Given the description of an element on the screen output the (x, y) to click on. 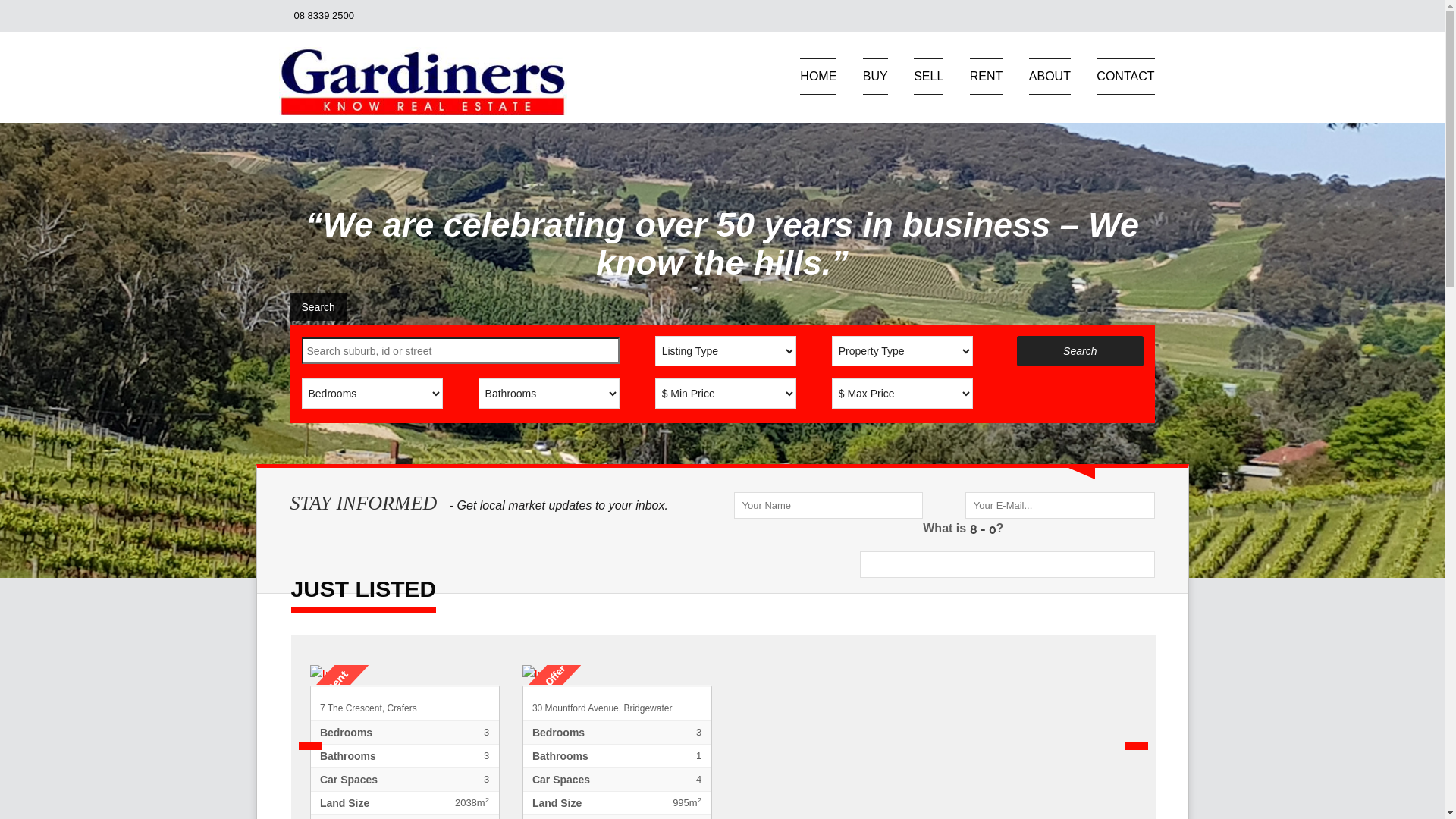
BUY Element type: text (875, 76)
SELL Element type: text (928, 76)
RENT Element type: text (986, 76)
08 8339 2500 Element type: text (324, 15)
Search Element type: text (1079, 350)
Search Element type: text (318, 307)
CONTACT Element type: text (1125, 76)
HOME Element type: text (818, 76)
ABOUT Element type: text (1049, 76)
